Given the description of an element on the screen output the (x, y) to click on. 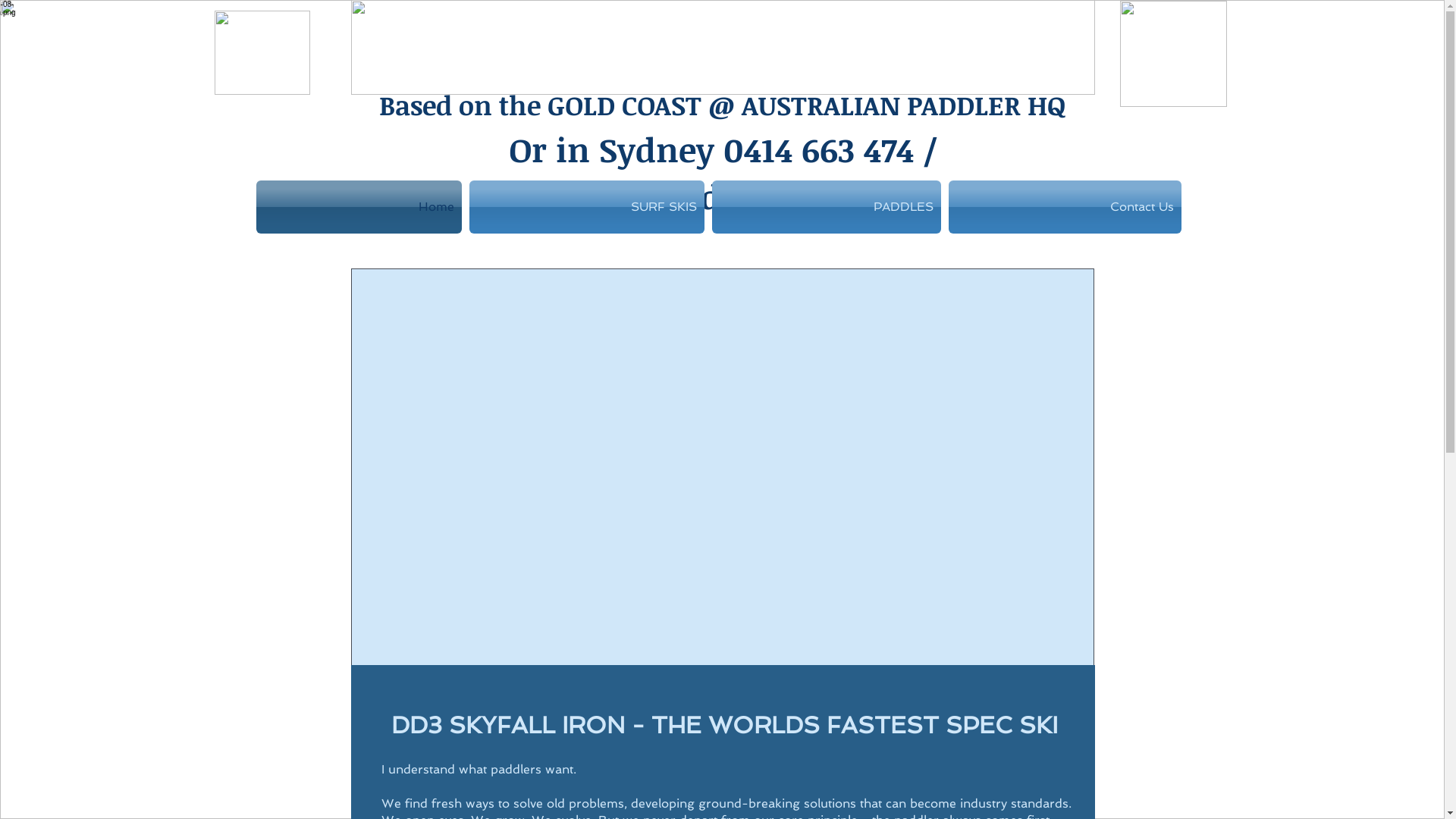
admin@dd3.com.au Element type: text (722, 196)
PADDLES Element type: text (826, 206)
Contact Us Element type: text (1062, 206)
Home Element type: text (360, 206)
SURF SKIS Element type: text (586, 206)
